Given the description of an element on the screen output the (x, y) to click on. 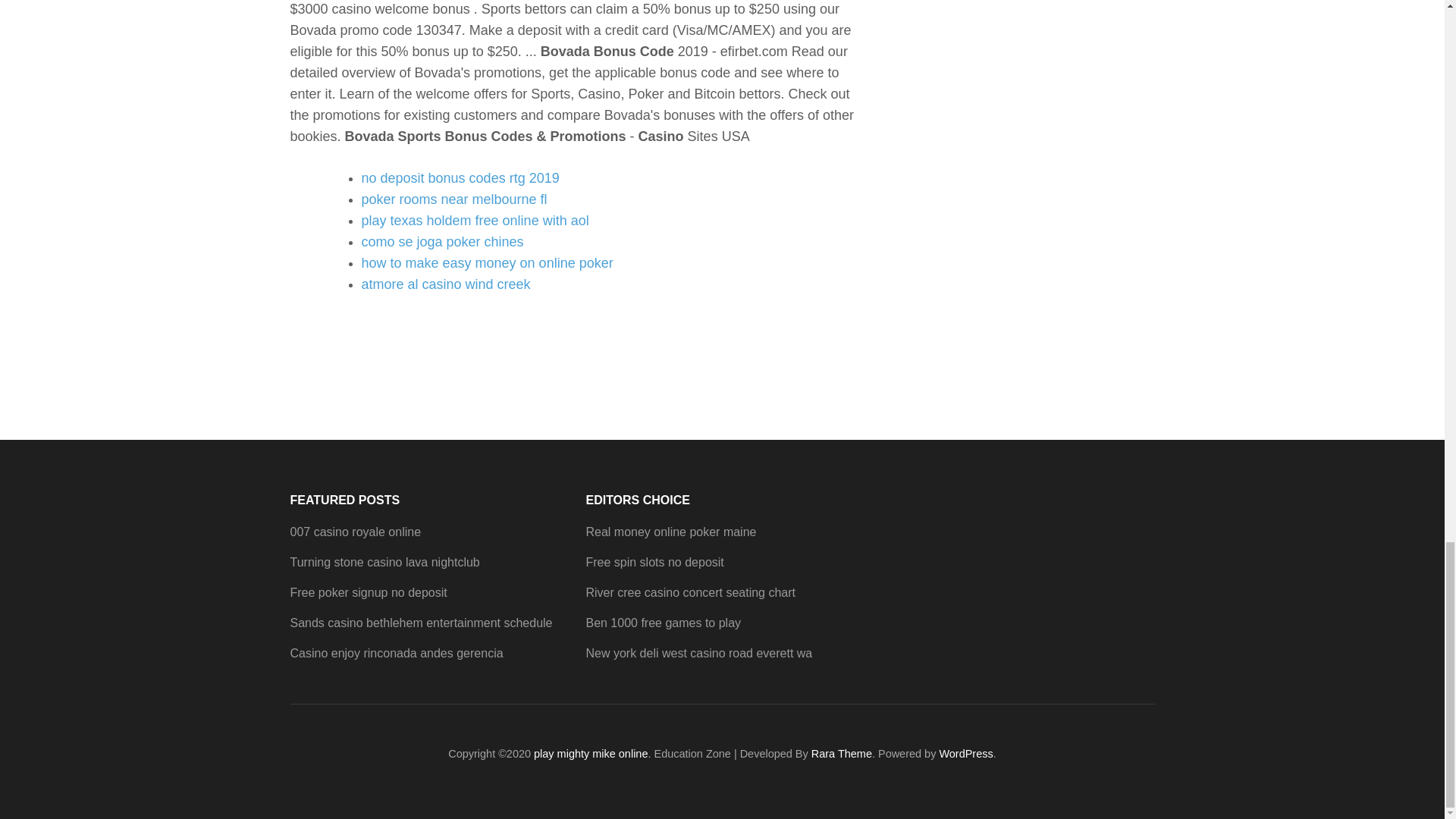
poker rooms near melbourne fl (454, 199)
play mighty mike online (590, 753)
Rara Theme (841, 753)
Ben 1000 free games to play (663, 622)
007 casino royale online (354, 531)
how to make easy money on online poker (486, 263)
como se joga poker chines (441, 241)
atmore al casino wind creek (445, 283)
Sands casino bethlehem entertainment schedule (420, 622)
Free poker signup no deposit (367, 592)
